Given the description of an element on the screen output the (x, y) to click on. 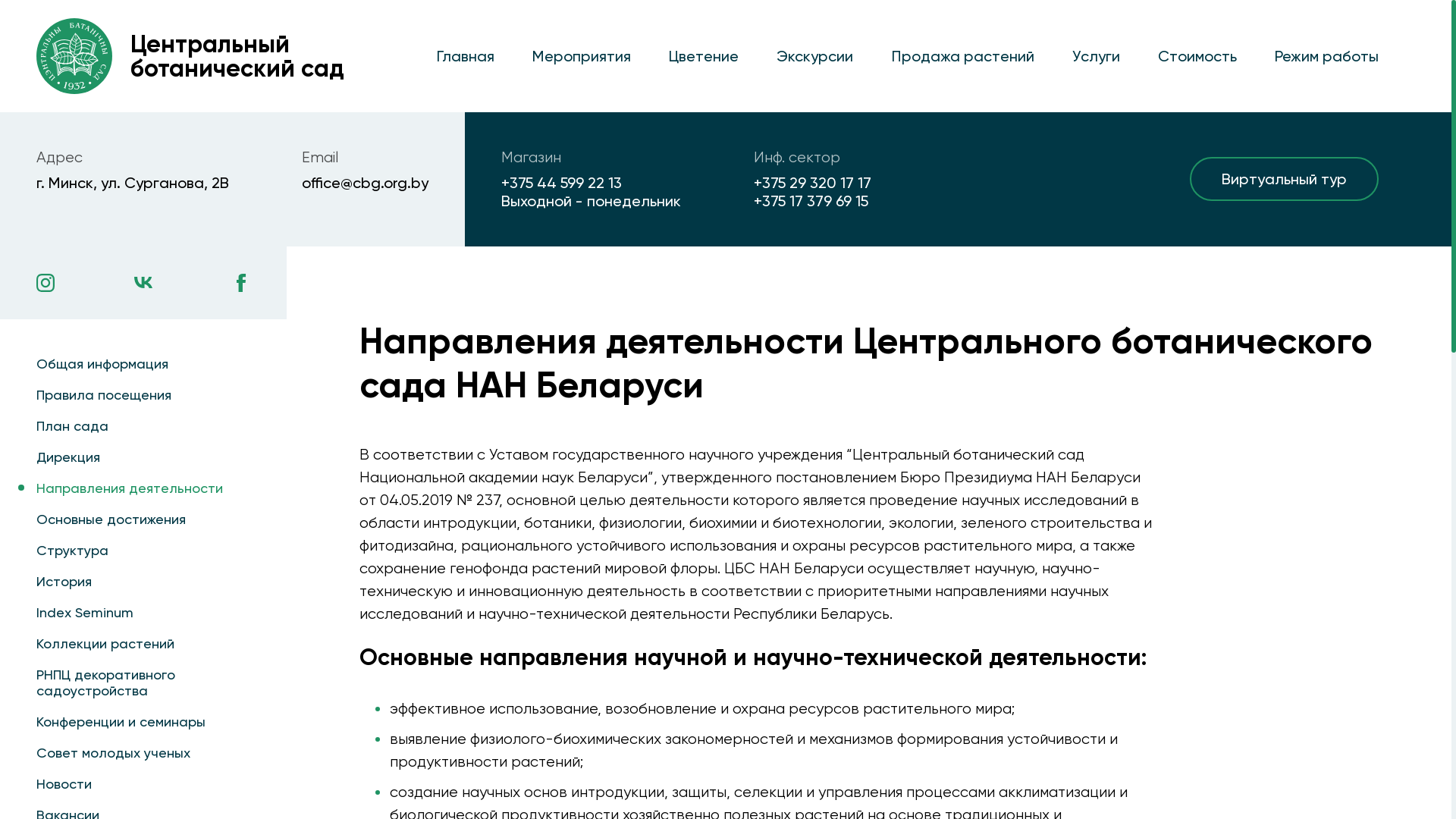
+375 44 599 22 13 Element type: text (590, 182)
+375 29 320 17 17 Element type: text (812, 182)
+375 17 379 69 15 Element type: text (812, 200)
Index Seminum Element type: text (143, 612)
